Given the description of an element on the screen output the (x, y) to click on. 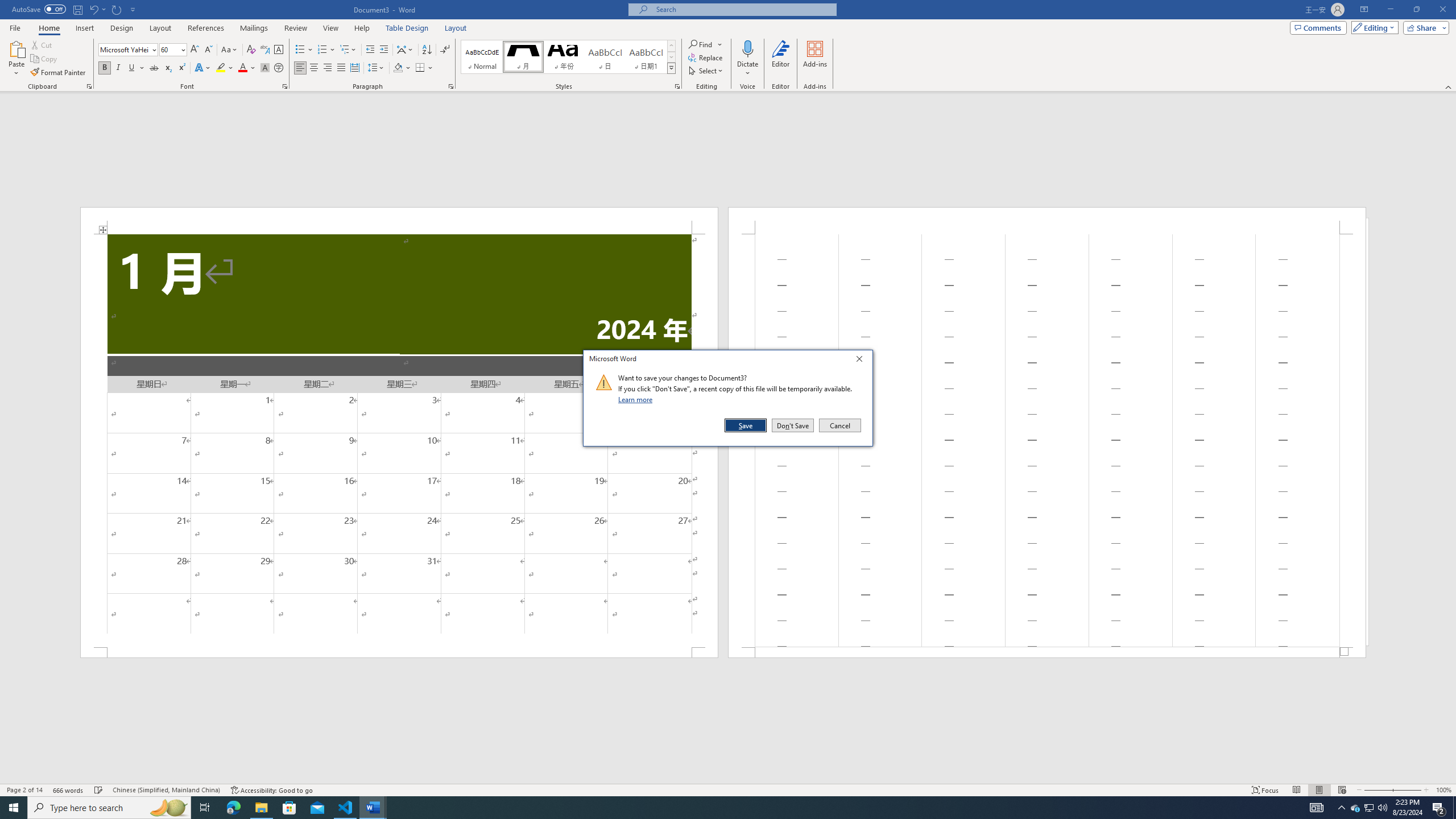
Focus  (1265, 790)
Repeat Style (117, 9)
Font (128, 49)
Format Painter (58, 72)
Save (746, 425)
Row up (670, 45)
Ribbon Display Options (1364, 9)
Find (700, 44)
Cut (42, 44)
Align Left (300, 67)
Table Design (407, 28)
Italic (118, 67)
Align Right (327, 67)
Asian Layout (405, 49)
Undo Apply Quick Style (96, 9)
